Given the description of an element on the screen output the (x, y) to click on. 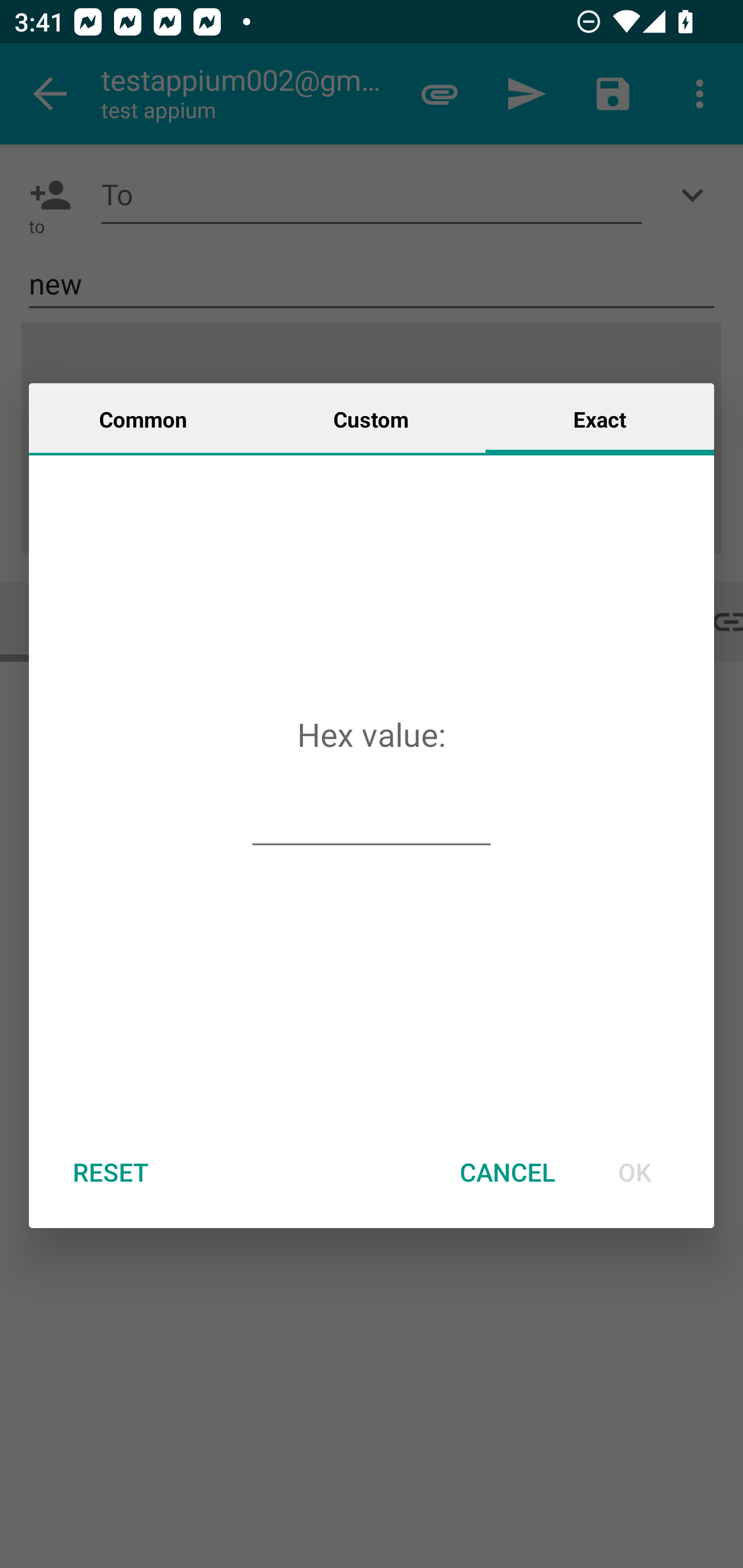
Common (142, 418)
Custom (371, 418)
Exact (599, 418)
RESET (110, 1171)
CANCEL (507, 1171)
OK (634, 1171)
